Given the description of an element on the screen output the (x, y) to click on. 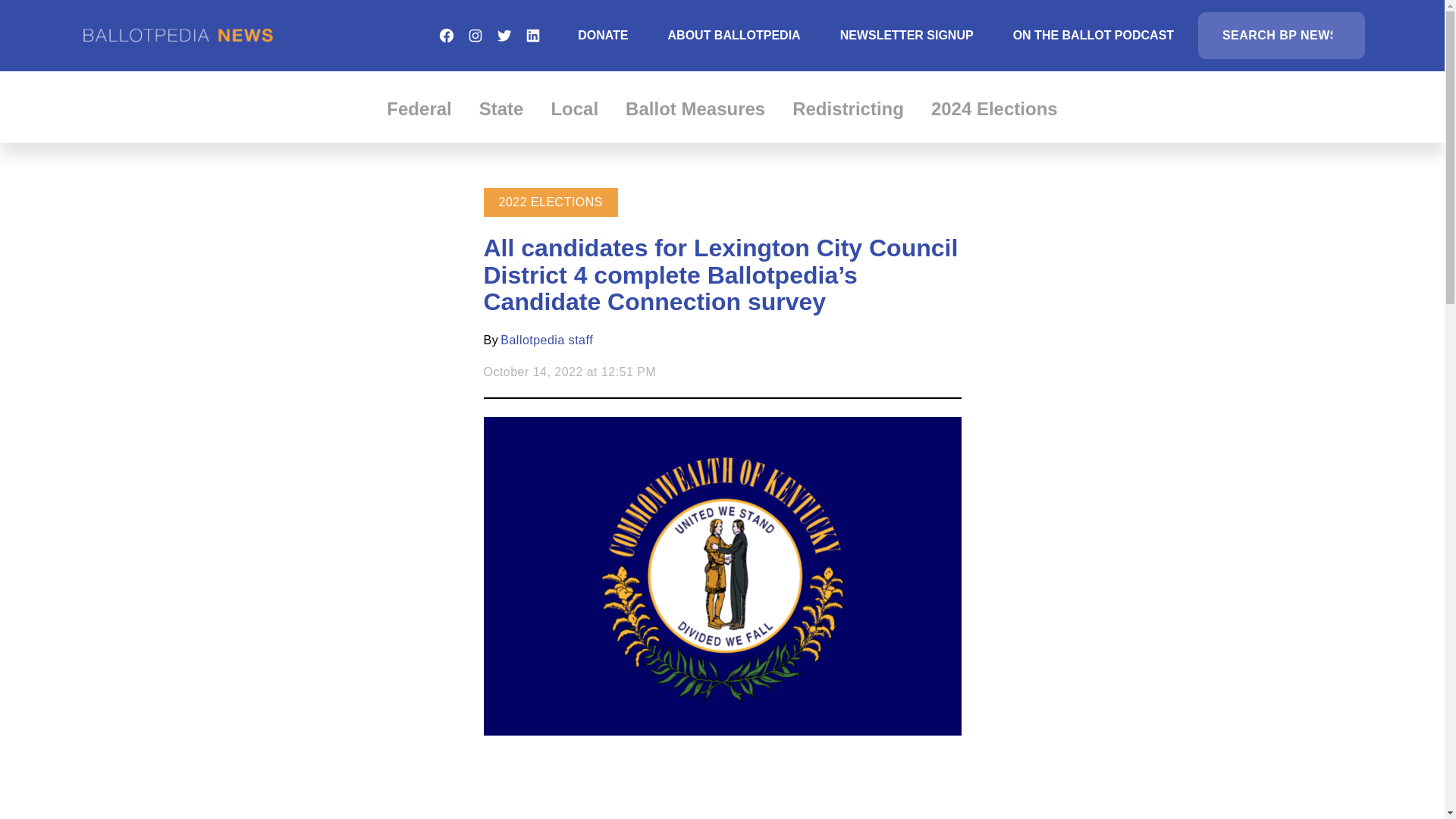
ON THE BALLOT PODCAST (1093, 35)
Ballot Measures (695, 108)
2024 Elections (994, 108)
Redistricting (848, 108)
Twitter (504, 35)
State (501, 108)
ABOUT BALLOTPEDIA (734, 35)
Facebook (446, 35)
NEWSLETTER SIGNUP (906, 35)
DONATE (602, 35)
